Given the description of an element on the screen output the (x, y) to click on. 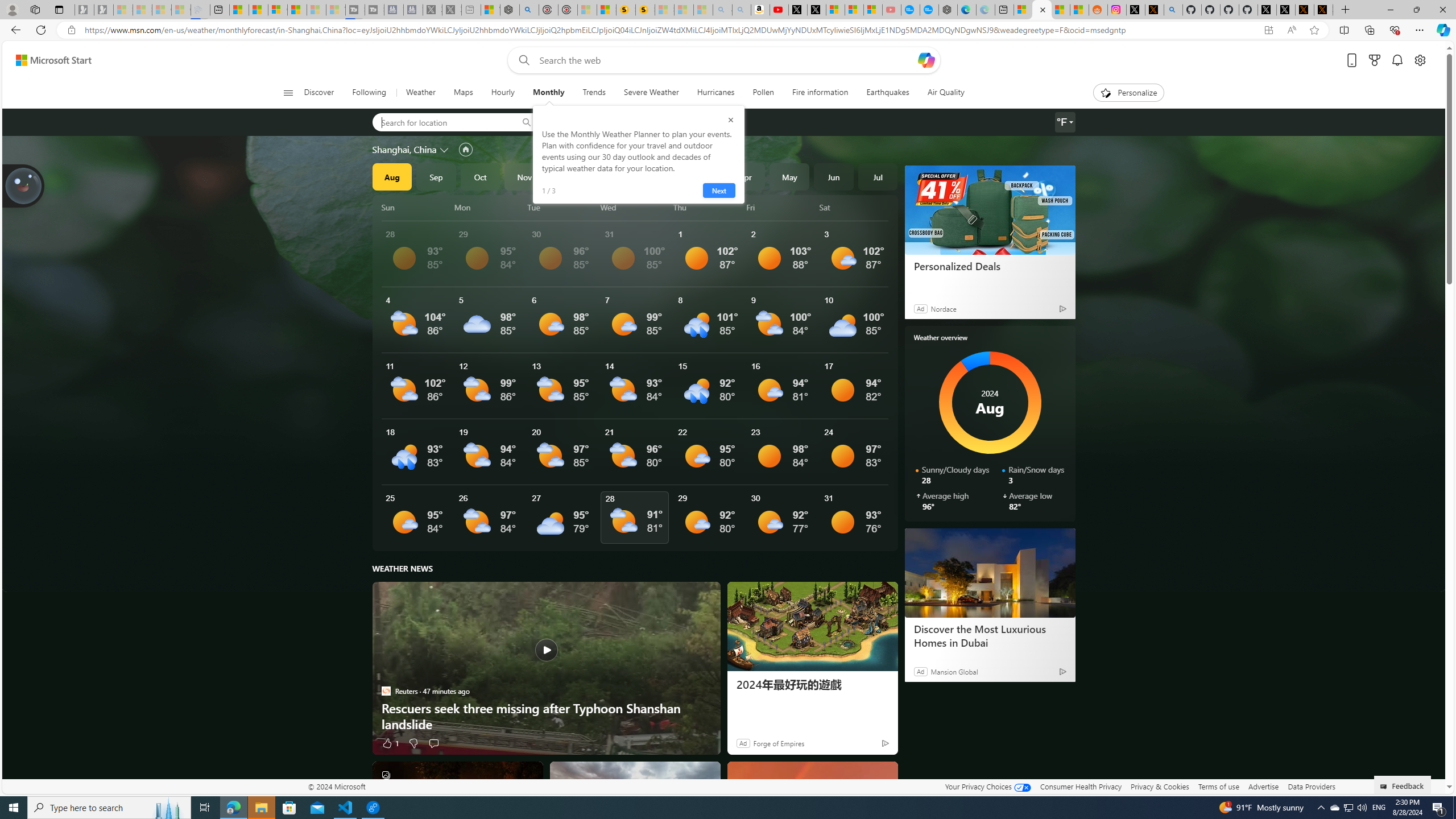
Weather settings (1064, 122)
App available. Install Microsoft Start Weather (1268, 29)
2025Jan (612, 176)
